Given the description of an element on the screen output the (x, y) to click on. 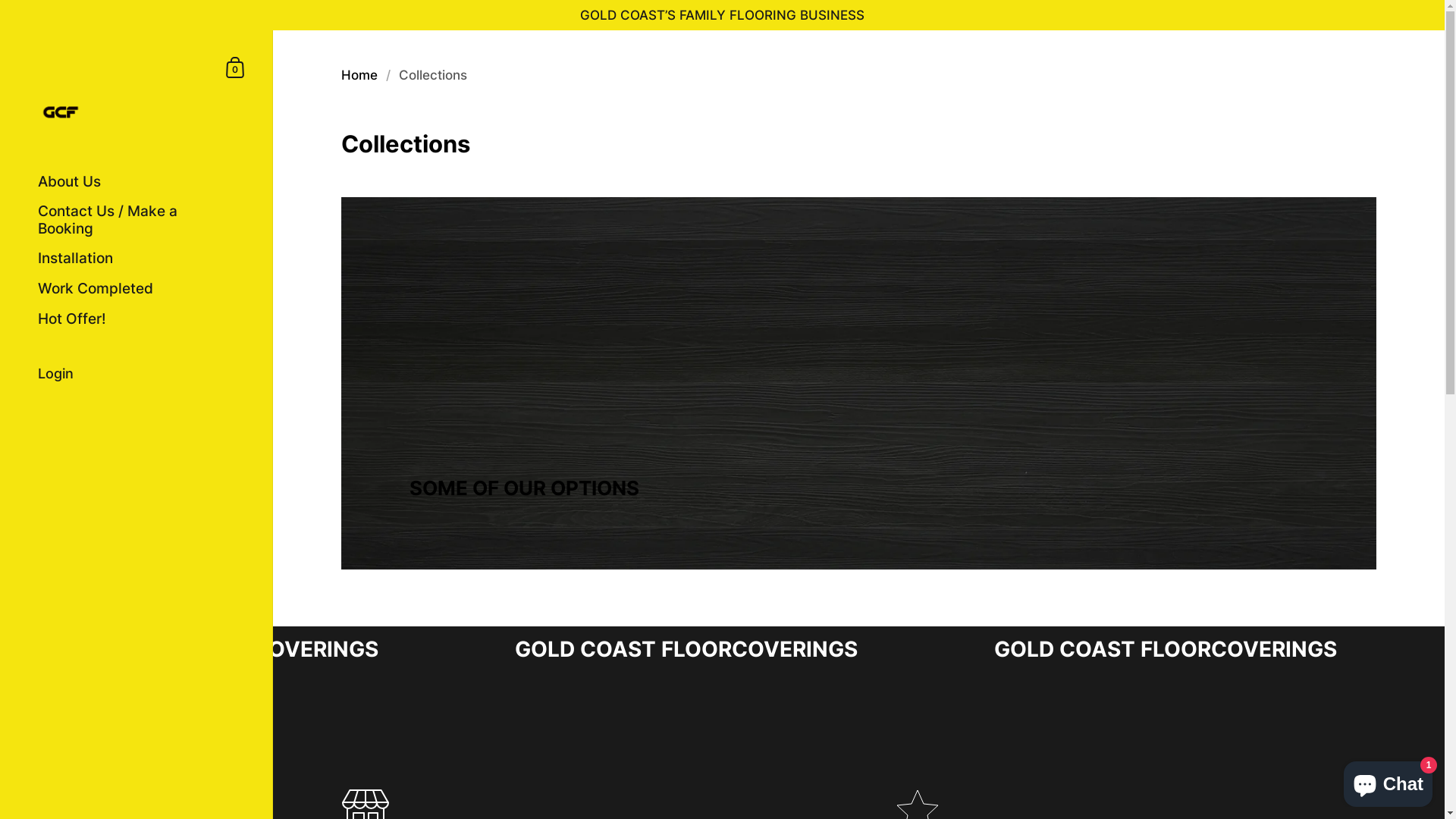
Installation Element type: text (136, 259)
Contact Us / Make a Booking Element type: text (136, 220)
SOME OF OUR OPTIONS Element type: text (858, 383)
Skip to content Element type: text (0, 30)
Work Completed Element type: text (136, 289)
Shopify online store chat Element type: hover (1388, 780)
Login Element type: text (136, 374)
Home Element type: text (359, 74)
Shopping Cart
0 Element type: text (235, 66)
Hot Offer! Element type: text (136, 319)
About Us Element type: text (136, 181)
